Given the description of an element on the screen output the (x, y) to click on. 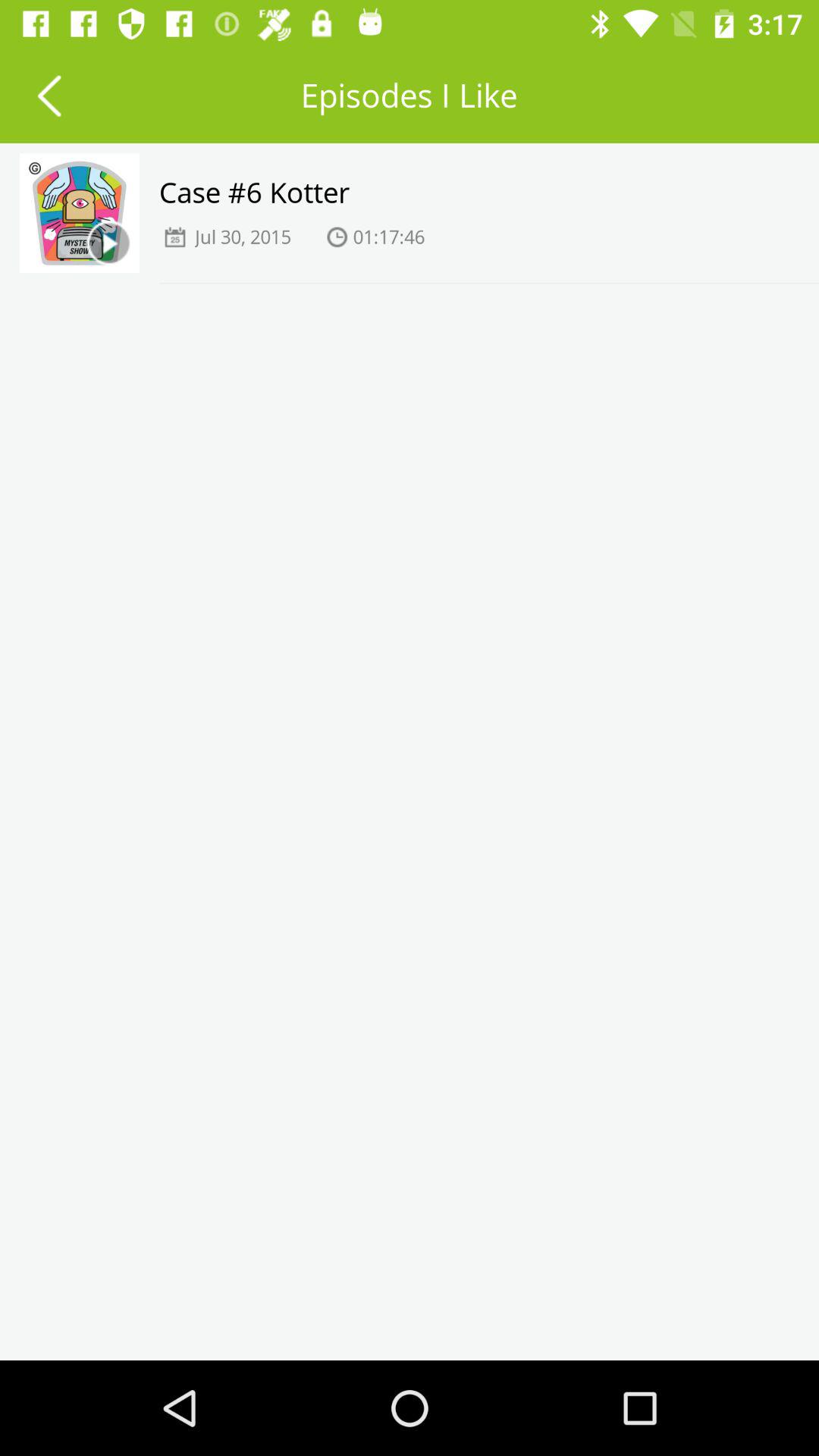
press the item to the left of the episodes i like icon (48, 95)
